Given the description of an element on the screen output the (x, y) to click on. 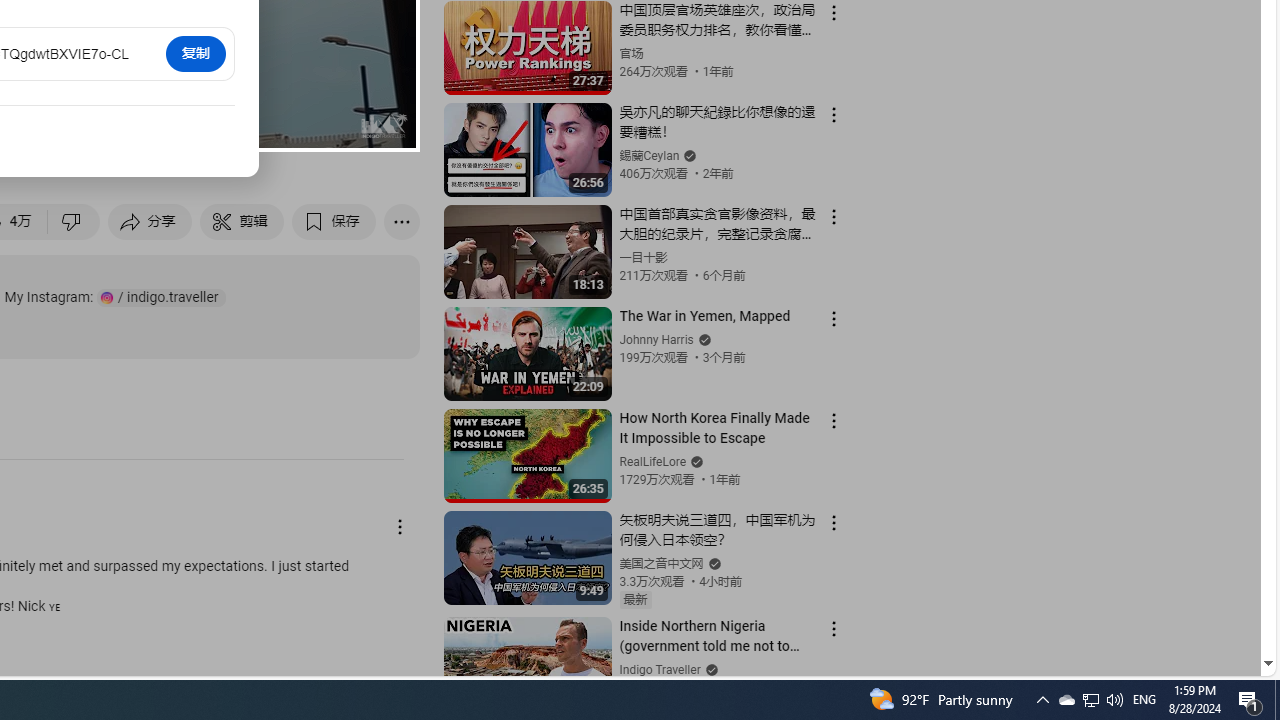
Class: ytp-subtitles-button-icon (190, 127)
Instagram Channel Link: indigo.traveller (161, 297)
